Given the description of an element on the screen output the (x, y) to click on. 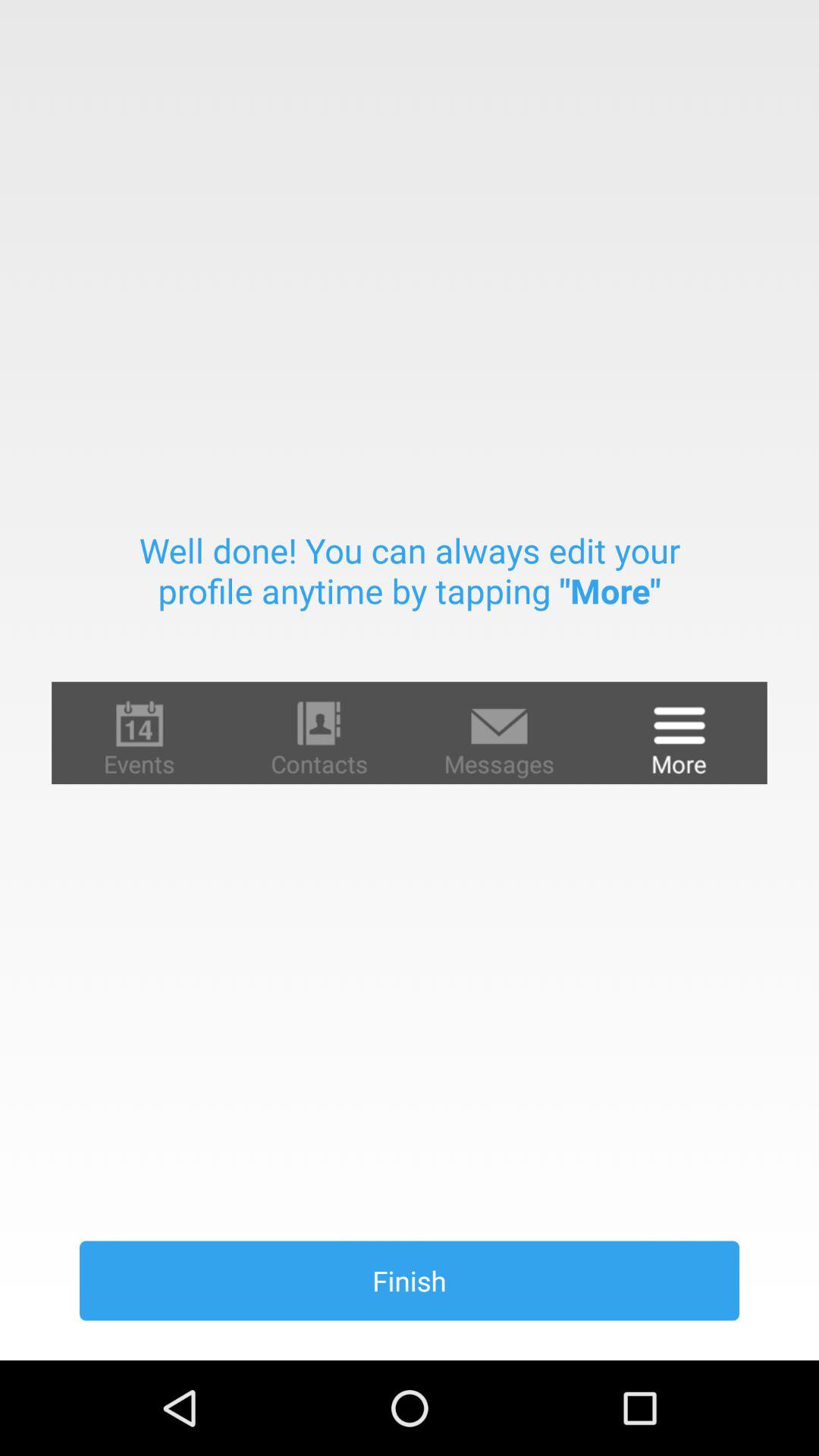
scroll to the finish icon (409, 1280)
